Given the description of an element on the screen output the (x, y) to click on. 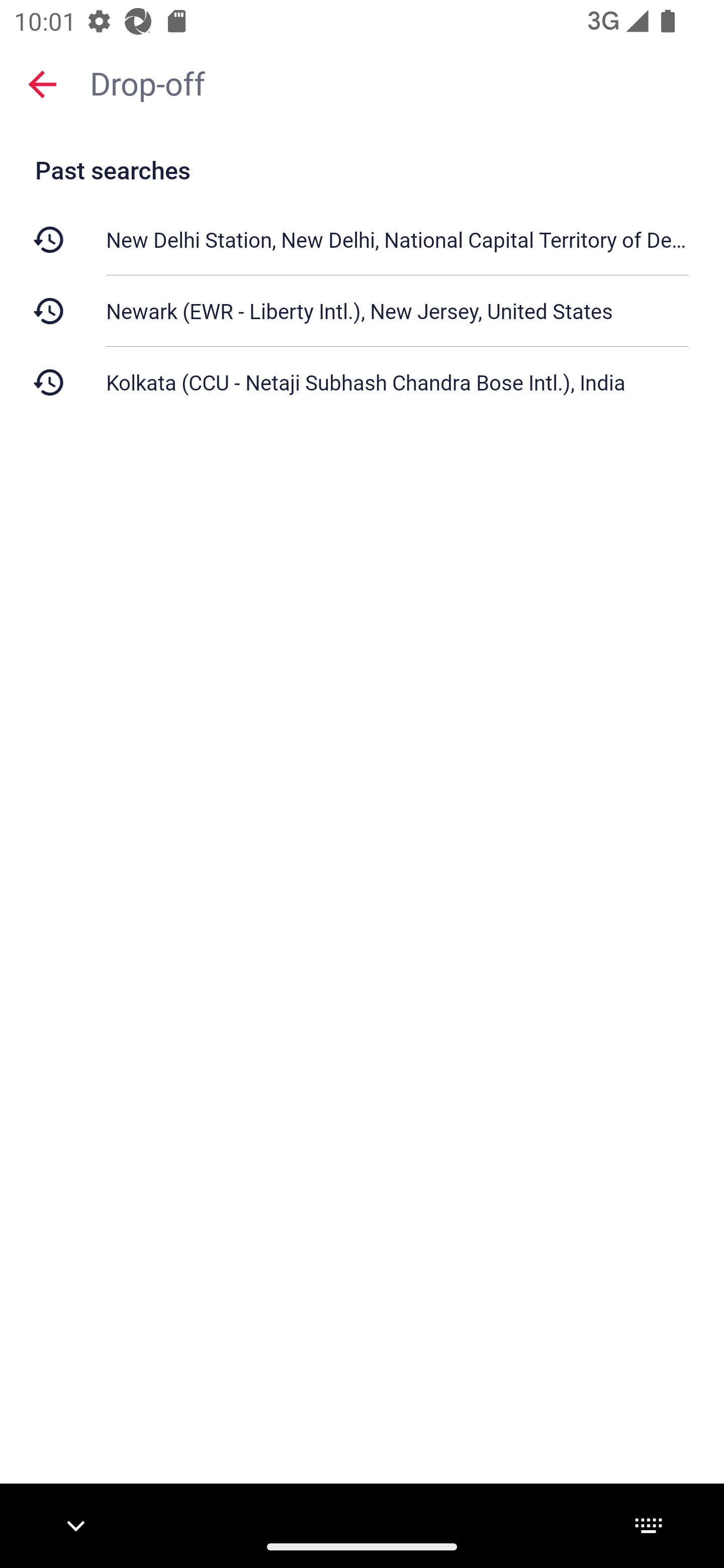
Drop-off,  (397, 82)
Close search screen (41, 83)
